Given the description of an element on the screen output the (x, y) to click on. 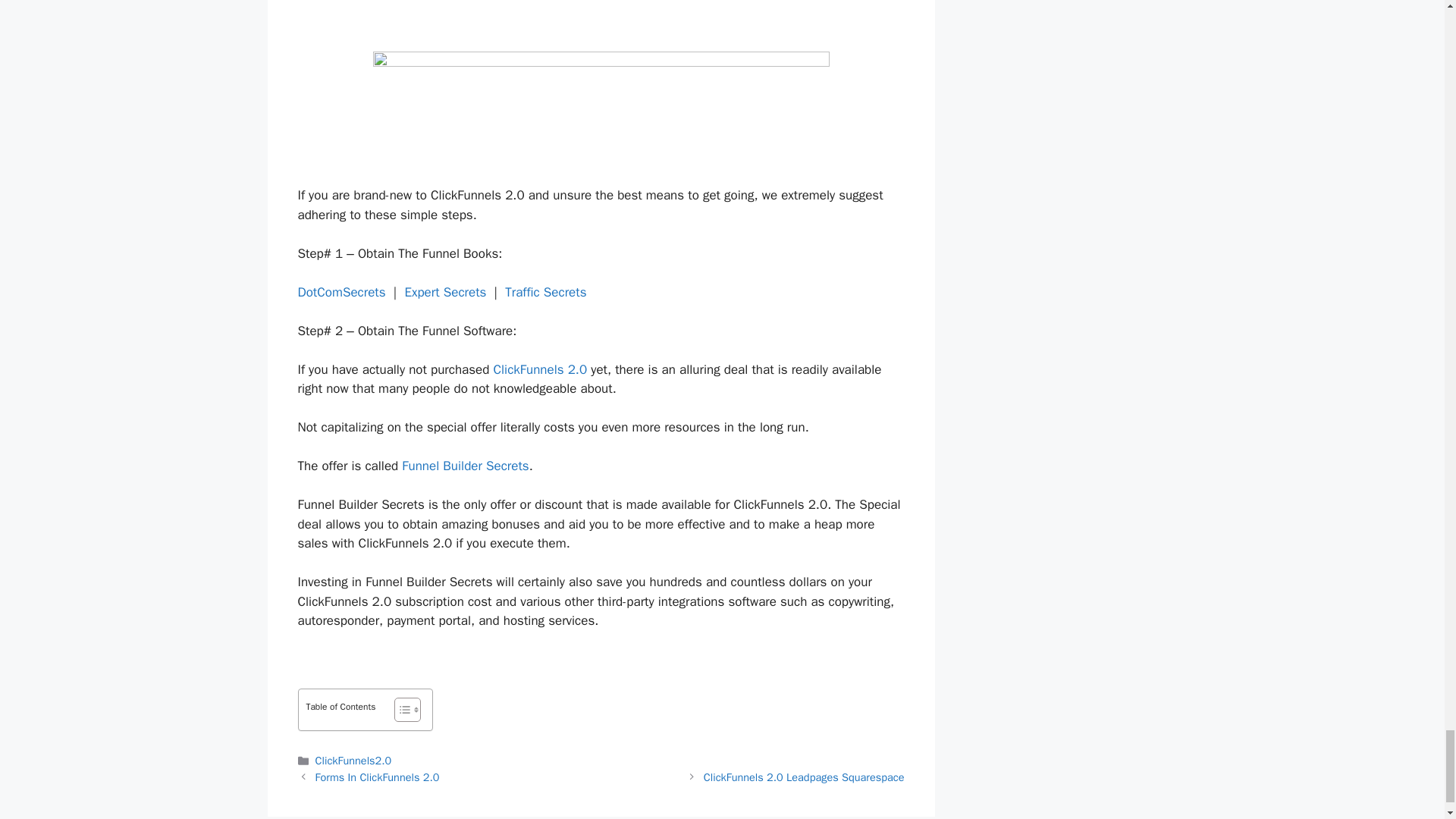
DotComSecrets (341, 292)
ClickFunnels 2.0 (540, 369)
Funnel Builder Secrets (464, 465)
Traffic Secrets (545, 292)
Expert Secrets (445, 292)
